Given the description of an element on the screen output the (x, y) to click on. 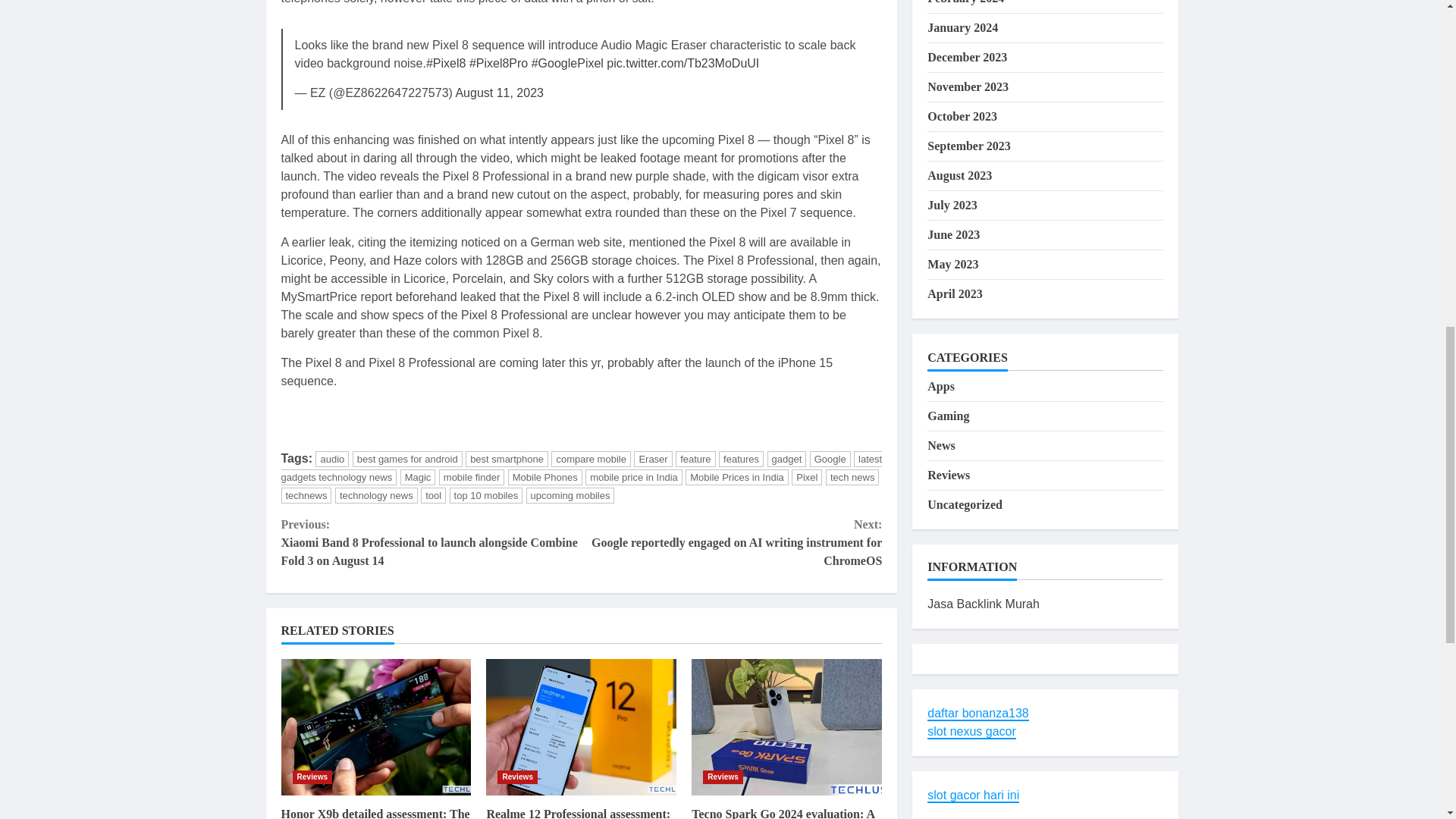
latest gadgets technology news (581, 468)
Google (829, 458)
gadget (786, 458)
Eraser (652, 458)
compare mobile (590, 458)
best games for android (407, 458)
August 11, 2023 (498, 92)
feature (694, 458)
best smartphone (506, 458)
audio (332, 458)
features (740, 458)
